Given the description of an element on the screen output the (x, y) to click on. 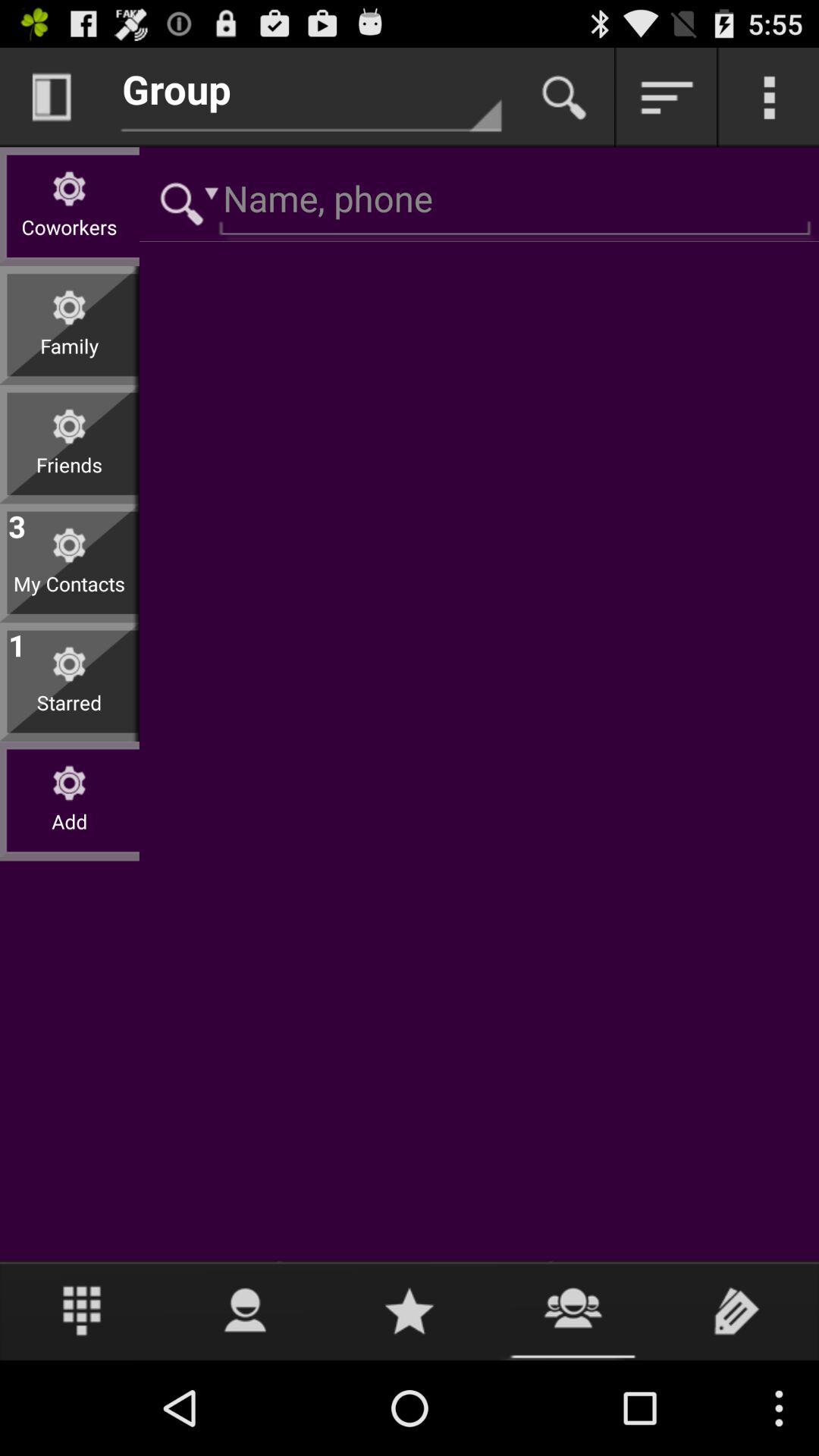
turn on the starred item (69, 714)
